Given the description of an element on the screen output the (x, y) to click on. 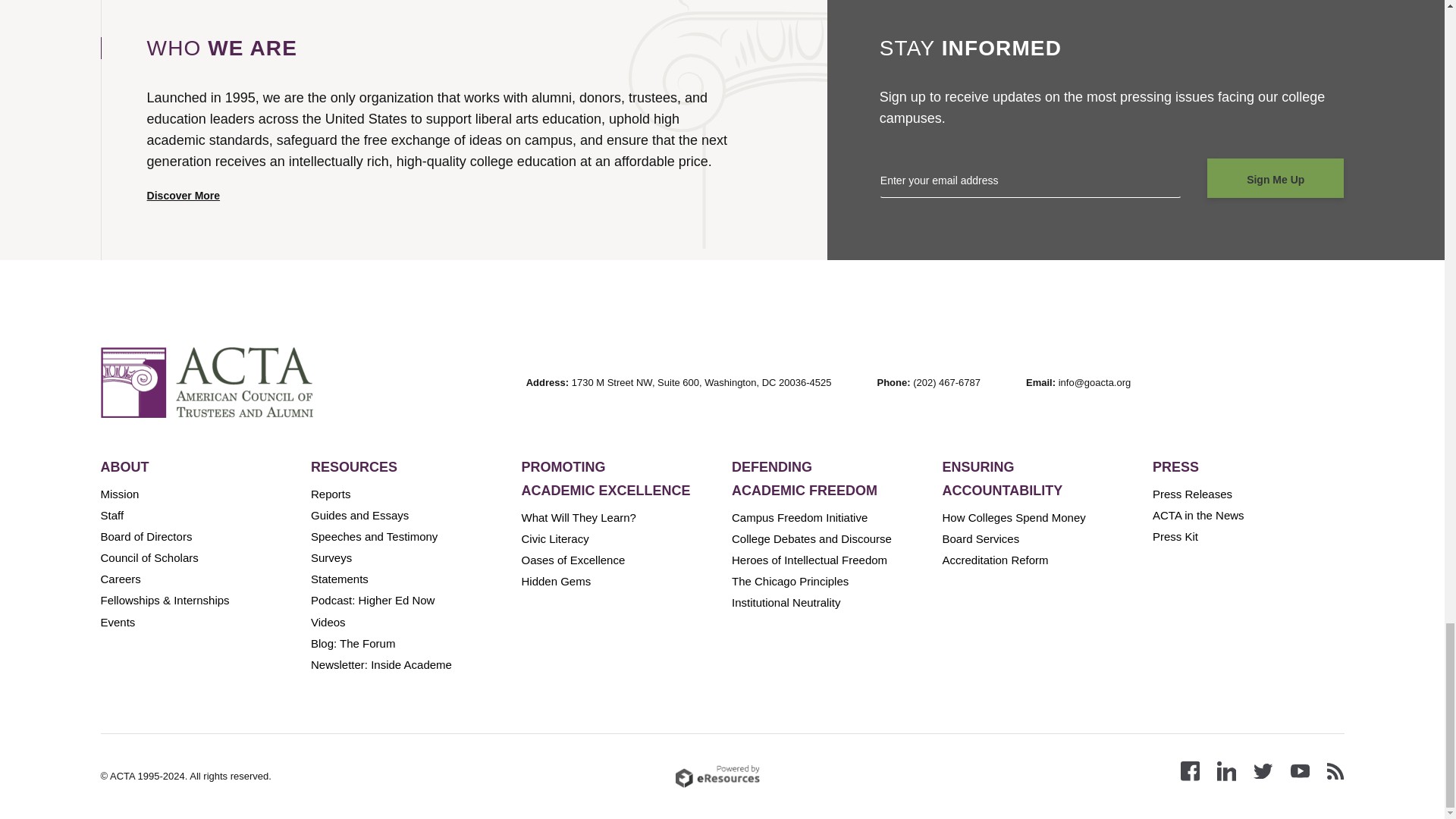
Sign Me Up (1275, 178)
